Given the description of an element on the screen output the (x, y) to click on. 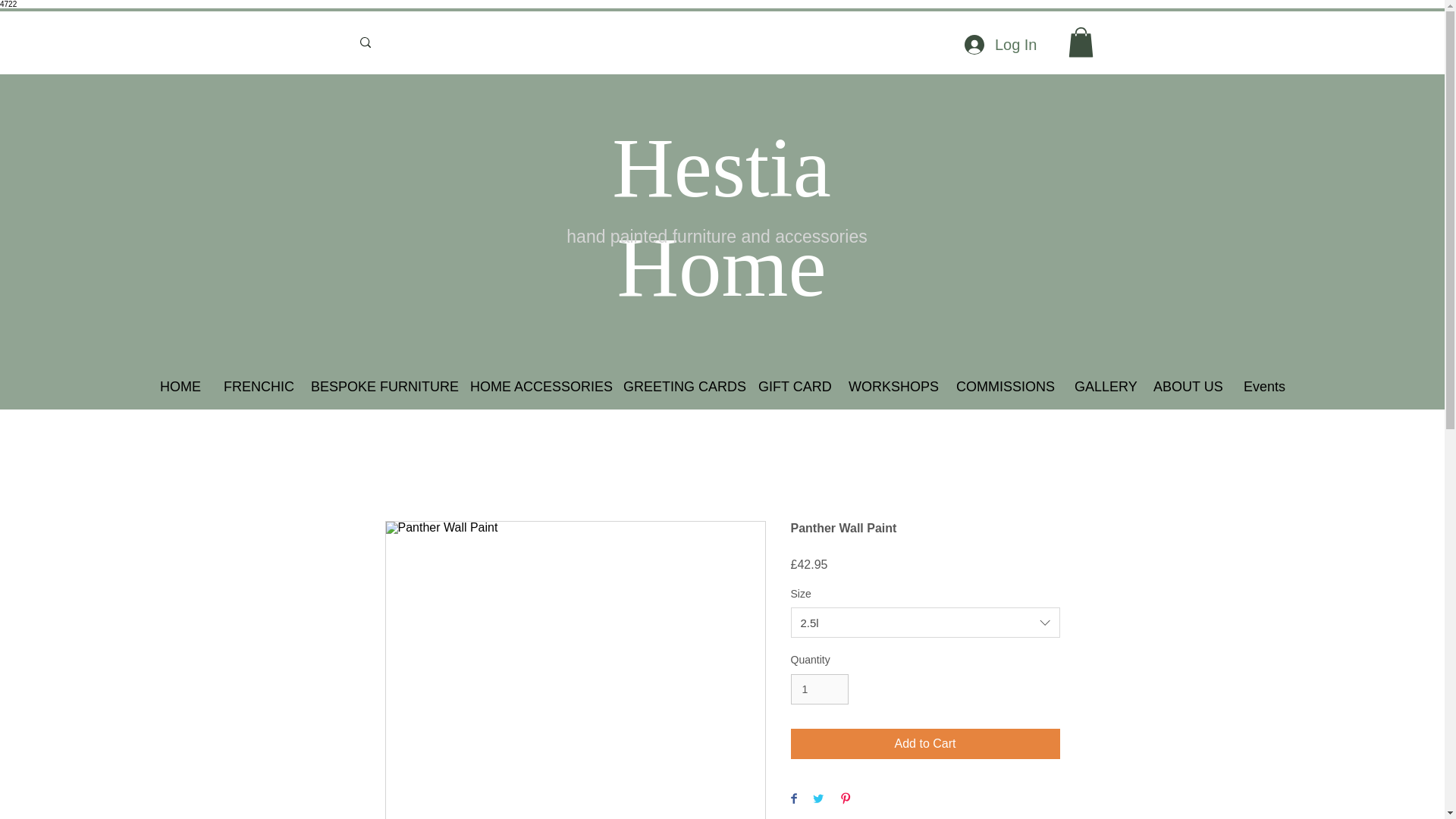
HOME ACCESSORIES (534, 386)
COMMISSIONS (1002, 386)
Log In (1000, 44)
WORKSHOPS (889, 386)
GIFT CARD (790, 386)
HOME (179, 386)
GALLERY (1101, 386)
Events (1264, 386)
1 (818, 689)
ABOUT US (1186, 386)
